Given the description of an element on the screen output the (x, y) to click on. 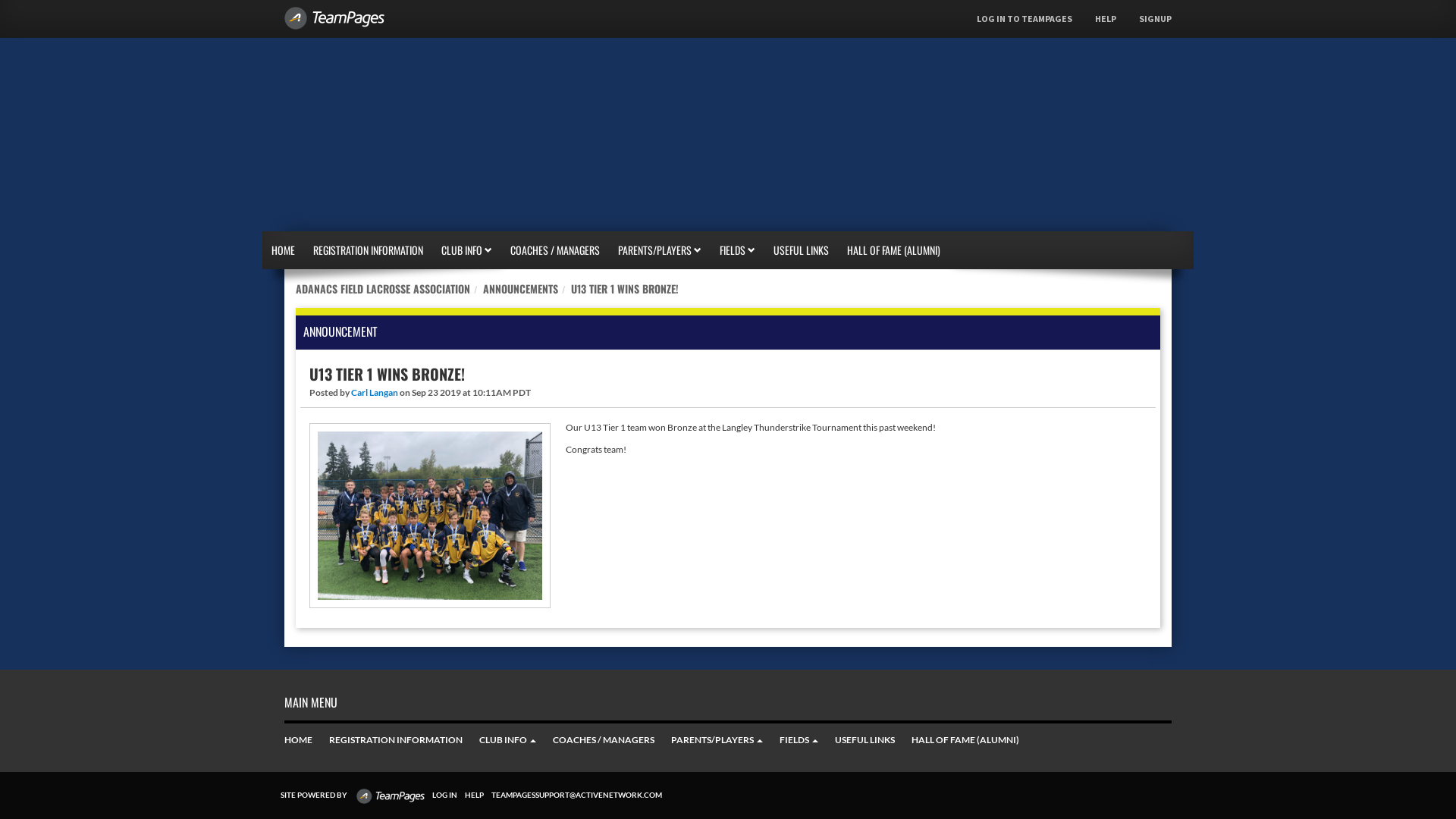
FIELDS Element type: text (798, 739)
HOME Element type: text (298, 739)
LOG IN TO TEAMPAGES Element type: text (1024, 18)
REGISTRATION INFORMATION Element type: text (395, 739)
CLUB INFO Element type: text (507, 739)
Carl Langan Element type: text (374, 392)
PARENTS/PLAYERS Element type: text (659, 250)
USEFUL LINKS Element type: text (800, 250)
U13 TIER 1 WINS BRONZE! Element type: text (624, 288)
HALL OF FAME (ALUMNI) Element type: text (893, 250)
HALL OF FAME (ALUMNI) Element type: text (965, 739)
USEFUL LINKS Element type: text (864, 739)
SIGNUP Element type: text (1155, 18)
LOG IN Element type: text (440, 794)
PARENTS/PLAYERS Element type: text (716, 739)
ANNOUNCEMENTS Element type: text (520, 288)
HOME Element type: text (283, 250)
COACHES / MANAGERS Element type: text (554, 250)
ADANACS FIELD LACROSSE ASSOCIATION Element type: text (382, 288)
COACHES / MANAGERS Element type: text (603, 739)
HELP Element type: text (1105, 18)
HELP Element type: text (470, 794)
CLUB INFO Element type: text (466, 250)
FIELDS Element type: text (737, 250)
REGISTRATION INFORMATION Element type: text (368, 250)
TEAMPAGESSUPPORT@ACTIVENETWORK.COM Element type: text (572, 794)
